Given the description of an element on the screen output the (x, y) to click on. 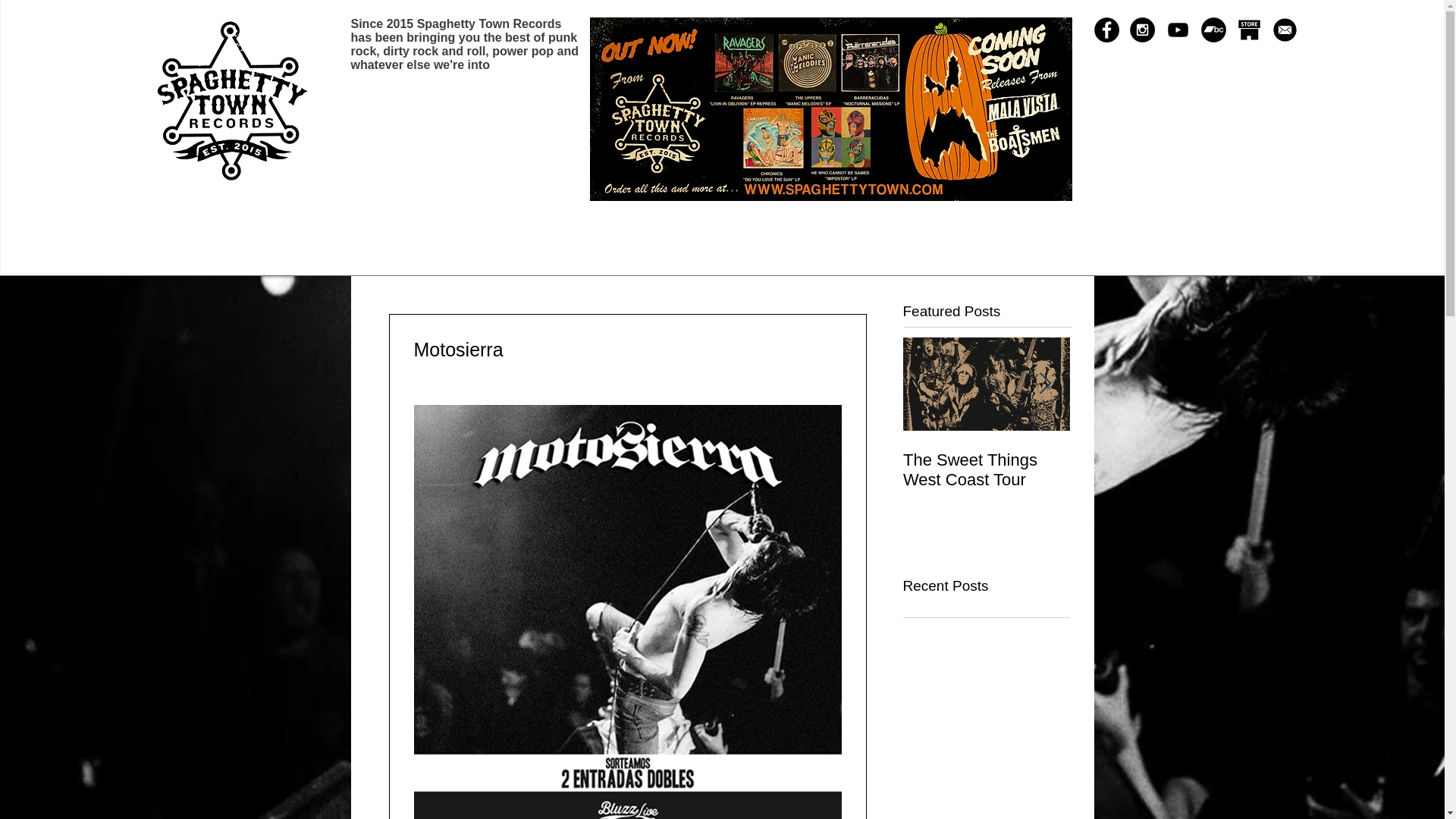
Motosierra, June, Brazil, Laja (1152, 469)
The Sweet Things West Coast Tour (985, 469)
